Given the description of an element on the screen output the (x, y) to click on. 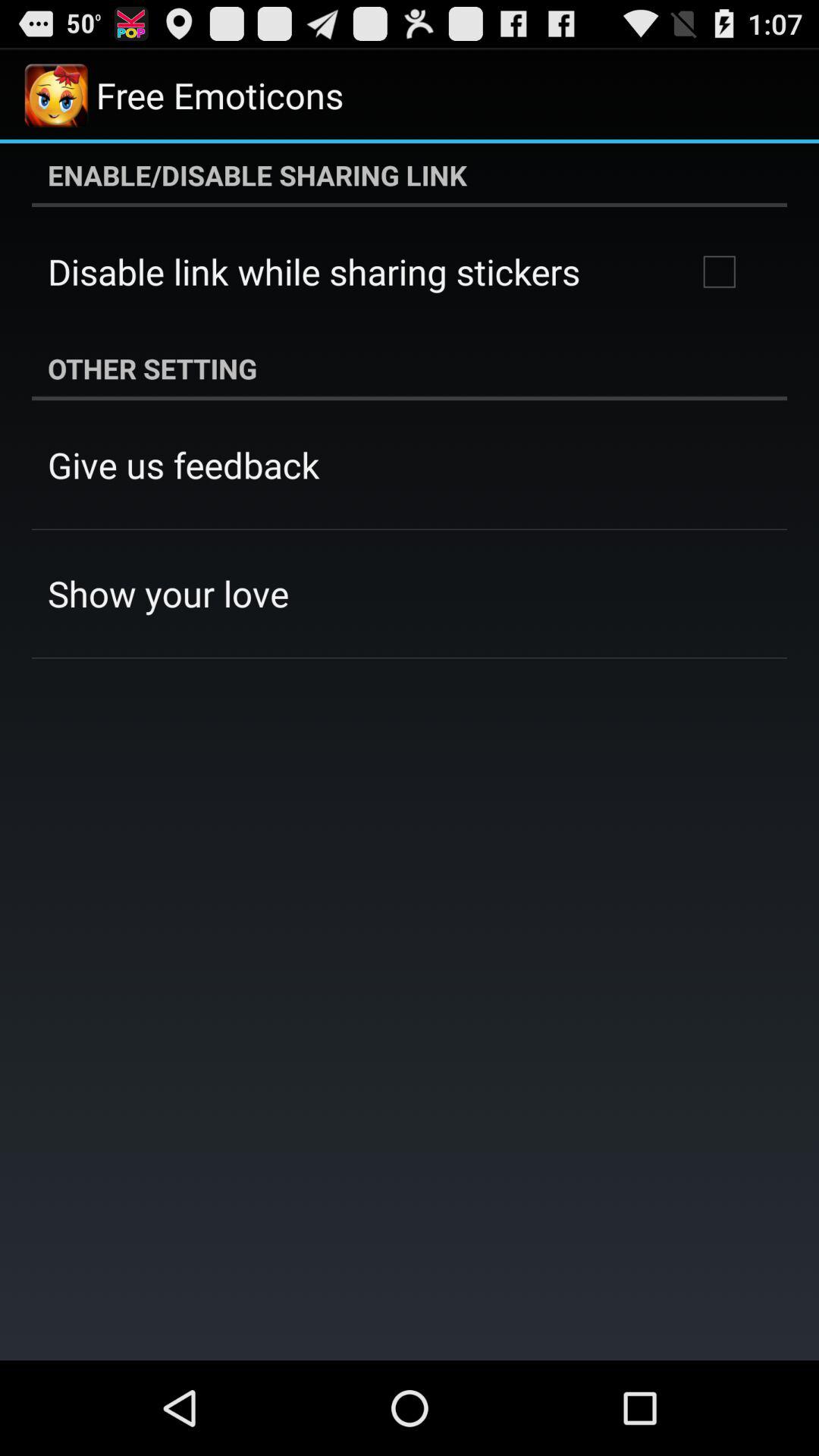
swipe to enable disable sharing icon (409, 175)
